Given the description of an element on the screen output the (x, y) to click on. 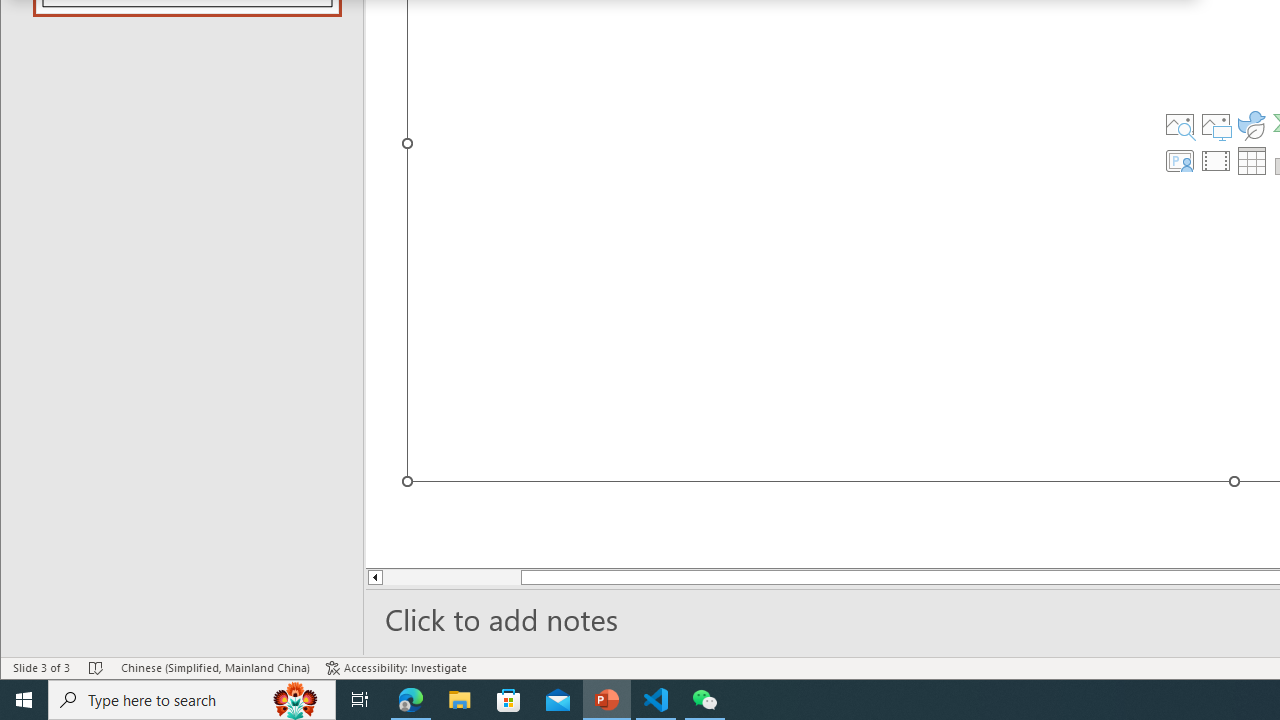
Insert Table (1252, 160)
Stock Images (1179, 124)
Insert Video (1215, 160)
